Given the description of an element on the screen output the (x, y) to click on. 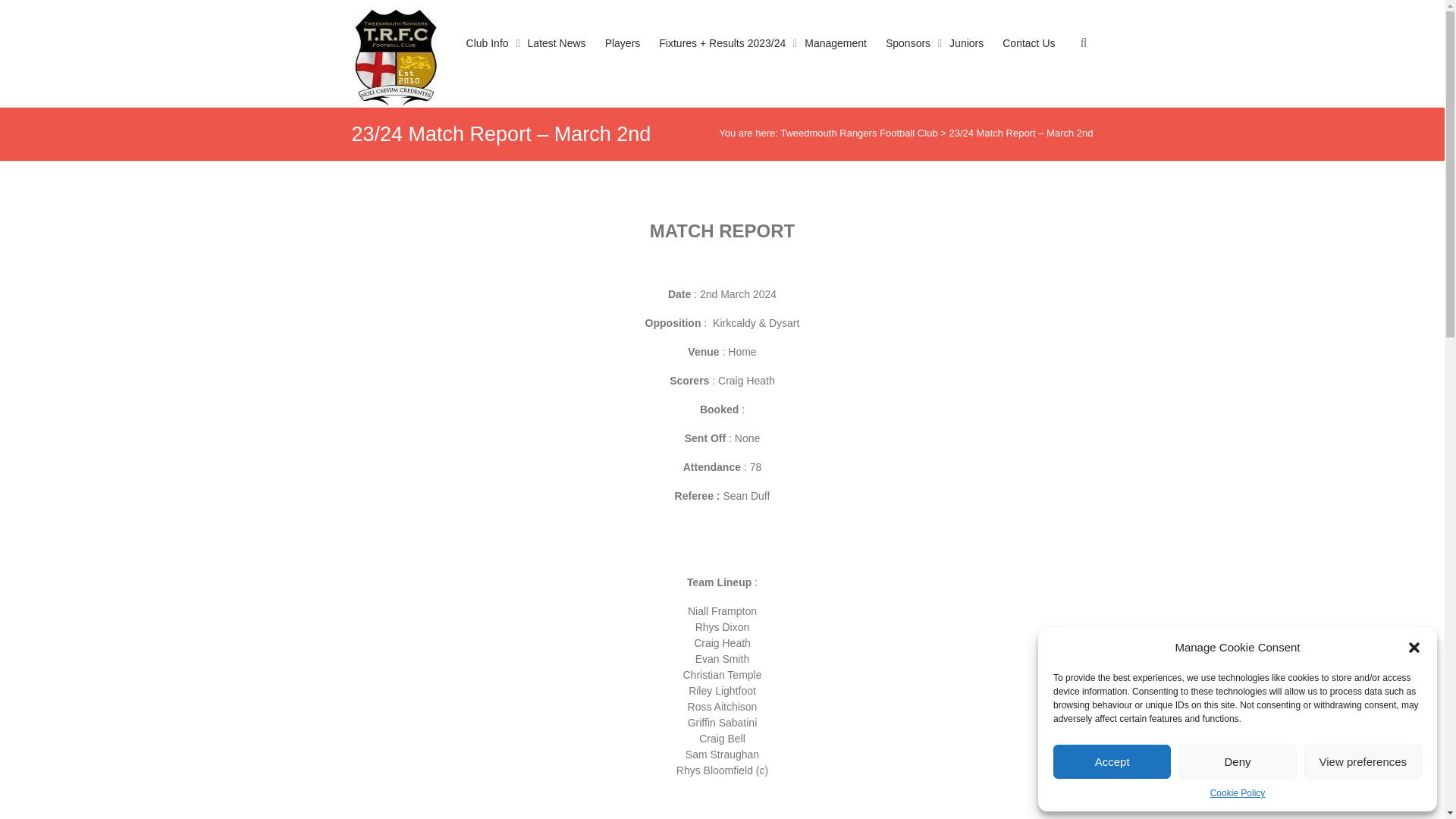
Deny (1236, 761)
Go to Tweedmouth Rangers Football Club. (858, 132)
Management (835, 57)
Tweedmouth Rangers Football Club (858, 132)
Juniors (966, 57)
Latest News (556, 57)
Cookie Policy (1237, 793)
View preferences (1363, 761)
Contact Us (1028, 57)
Club Info (486, 57)
Accept (1111, 761)
Sponsors (907, 57)
Players (622, 57)
